Given the description of an element on the screen output the (x, y) to click on. 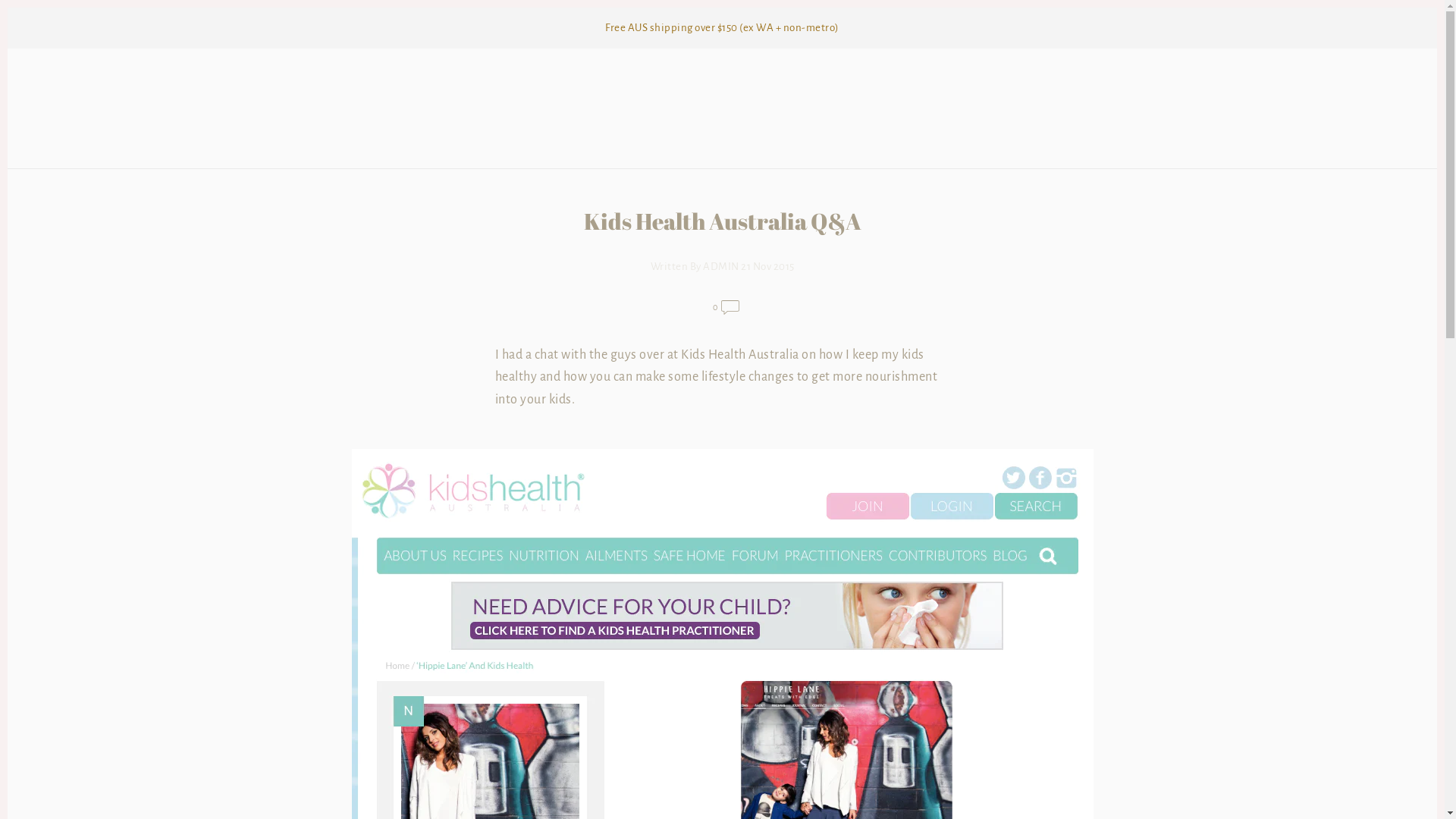
0 Element type: text (725, 310)
Free AUS shipping over $150 (ex WA + non-metro) Element type: text (722, 27)
